Given the description of an element on the screen output the (x, y) to click on. 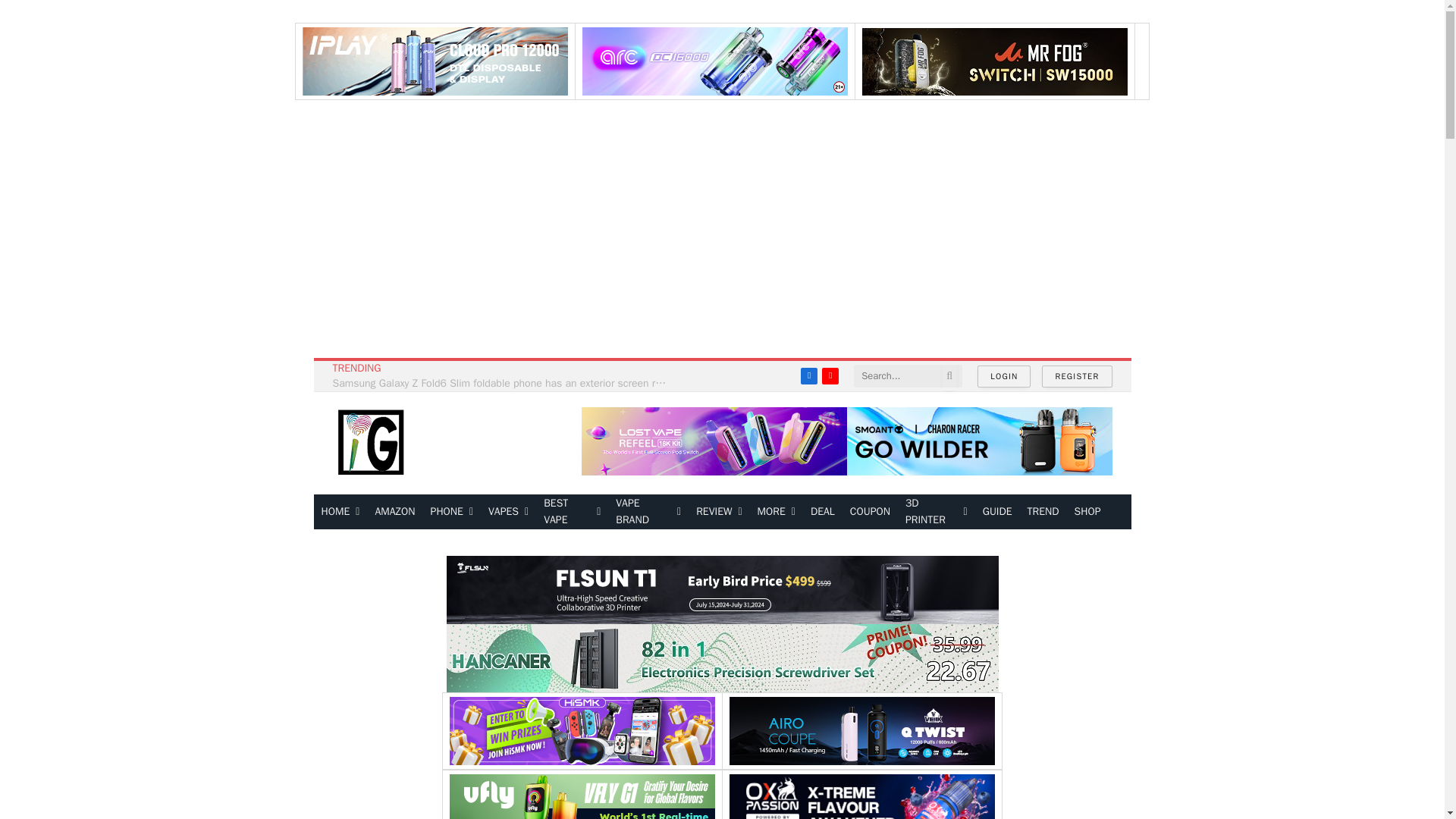
AMAZON (394, 511)
REGISTER (1077, 376)
YouTube (830, 375)
HOME (341, 511)
PHONE (451, 511)
LOGIN (1003, 376)
Facebook (808, 375)
